Given the description of an element on the screen output the (x, y) to click on. 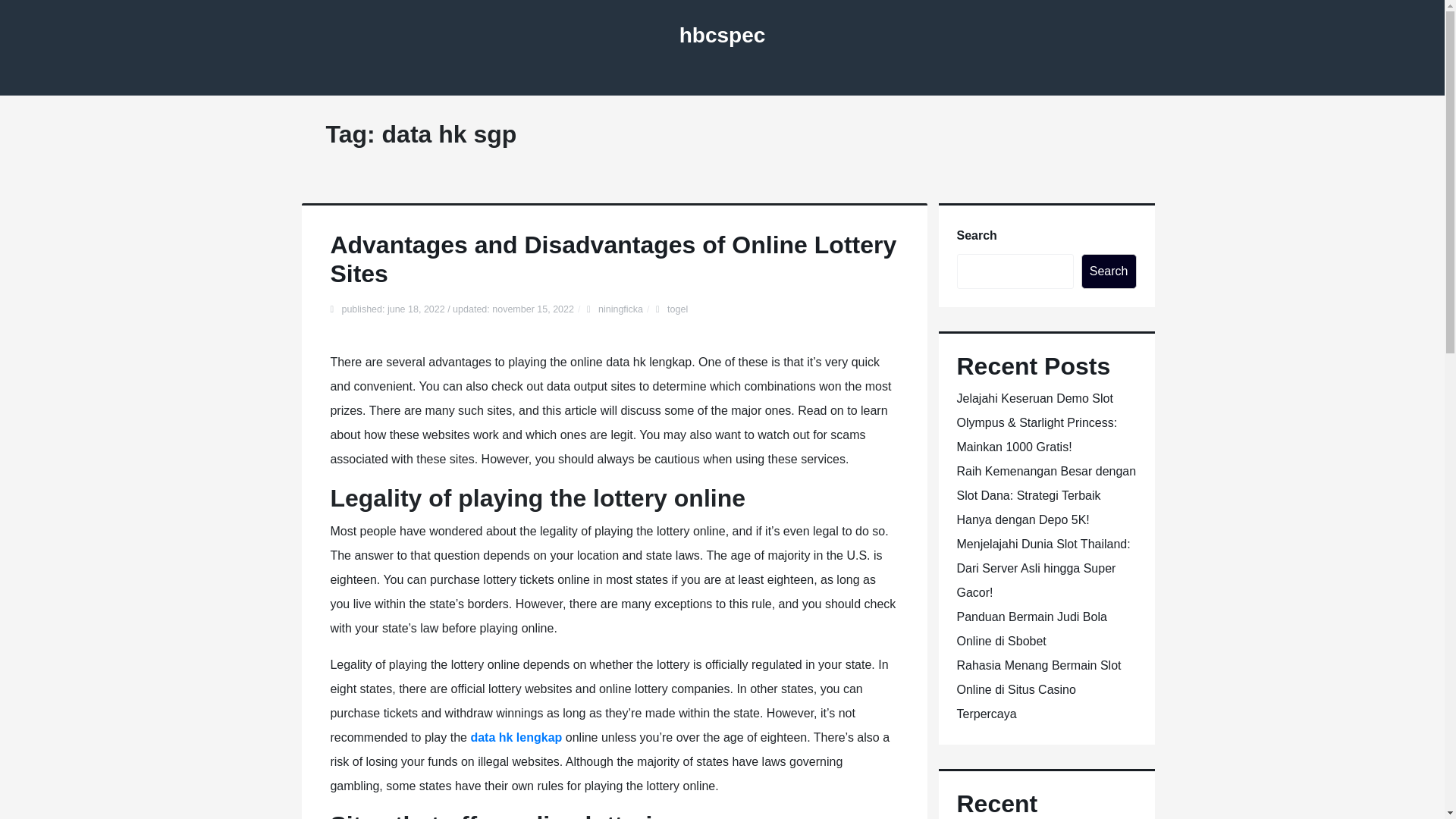
Search (1109, 271)
data hk lengkap (516, 737)
Panduan Bermain Judi Bola Online di Sbobet (1031, 628)
togel (676, 308)
Advantages and Disadvantages of Online Lottery Sites (613, 258)
niningficka (620, 308)
hbcspec (722, 34)
